Given the description of an element on the screen output the (x, y) to click on. 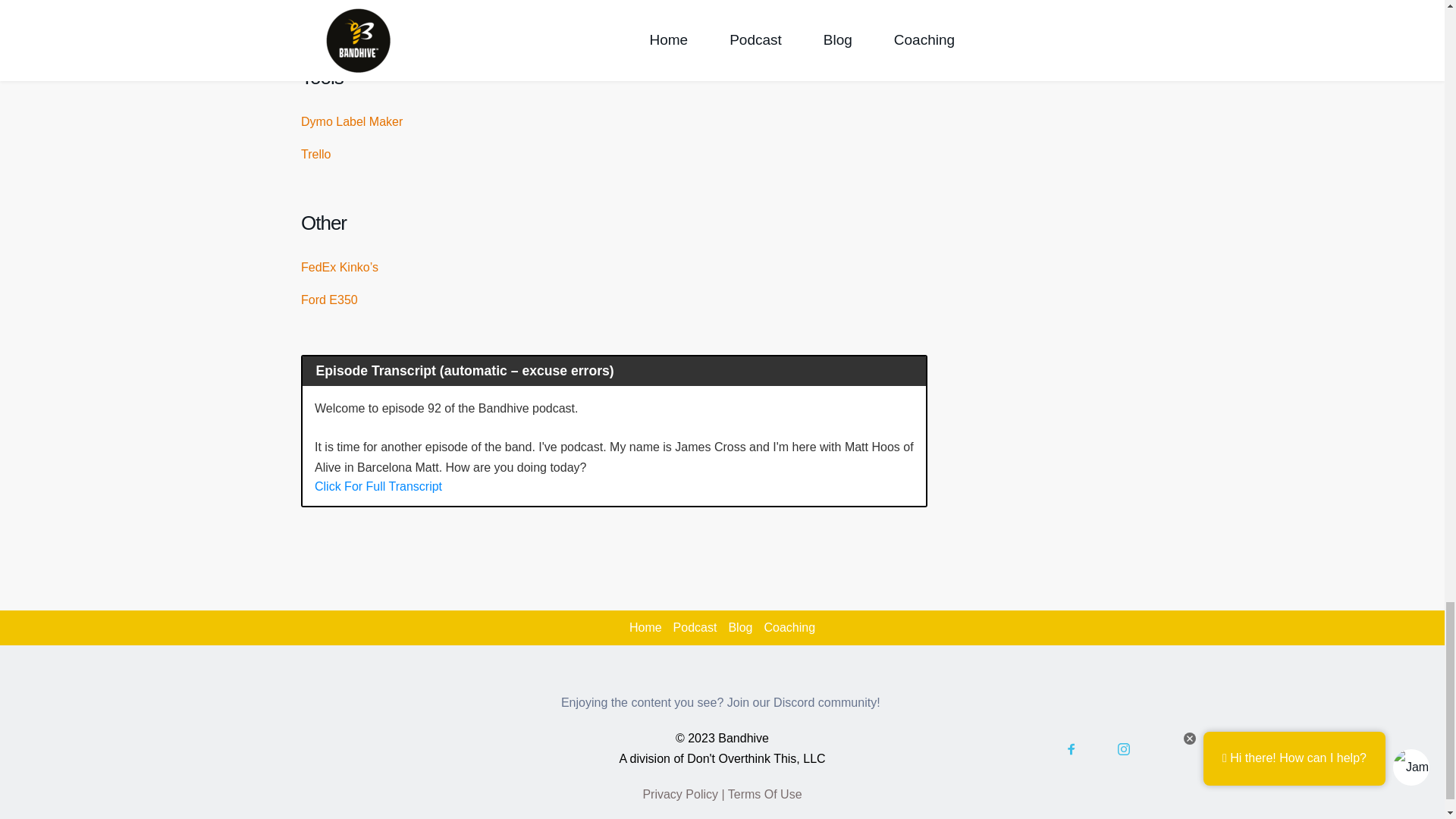
Trello (315, 154)
Dymo Label Maker (352, 121)
Ford E350 (329, 299)
Schecter (325, 8)
Click For Full Transcript (378, 486)
